Given the description of an element on the screen output the (x, y) to click on. 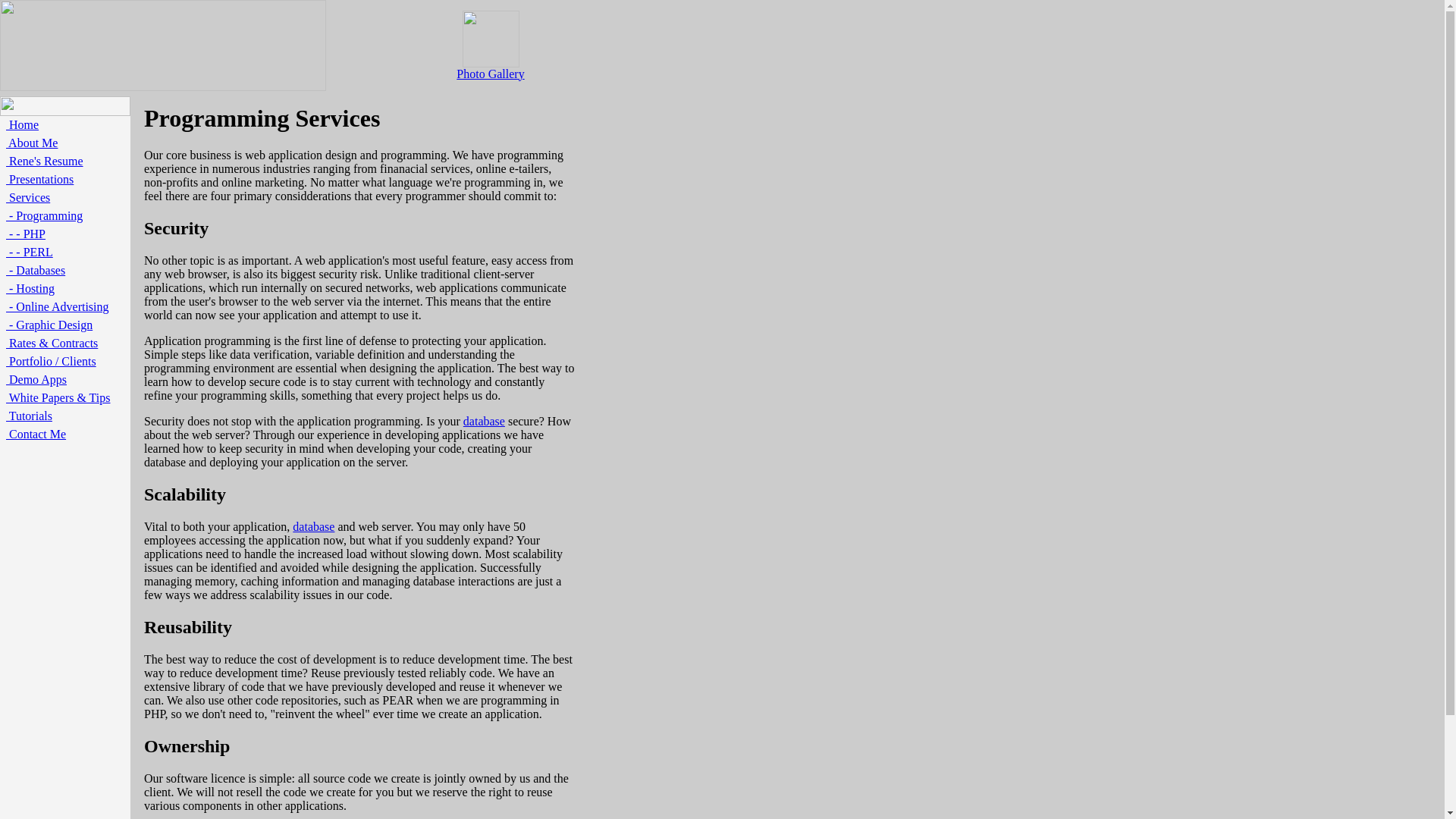
database (313, 526)
- Graphic Design (49, 324)
Rene's Resume (43, 160)
- Online Advertising (57, 306)
- Hosting (30, 287)
Home (22, 124)
- Programming (43, 215)
- Databases (35, 269)
Presentations (39, 178)
Tutorials (28, 415)
database (484, 420)
Photo Gallery (490, 67)
Services (27, 196)
- - PERL (28, 251)
- - PHP (25, 233)
